Given the description of an element on the screen output the (x, y) to click on. 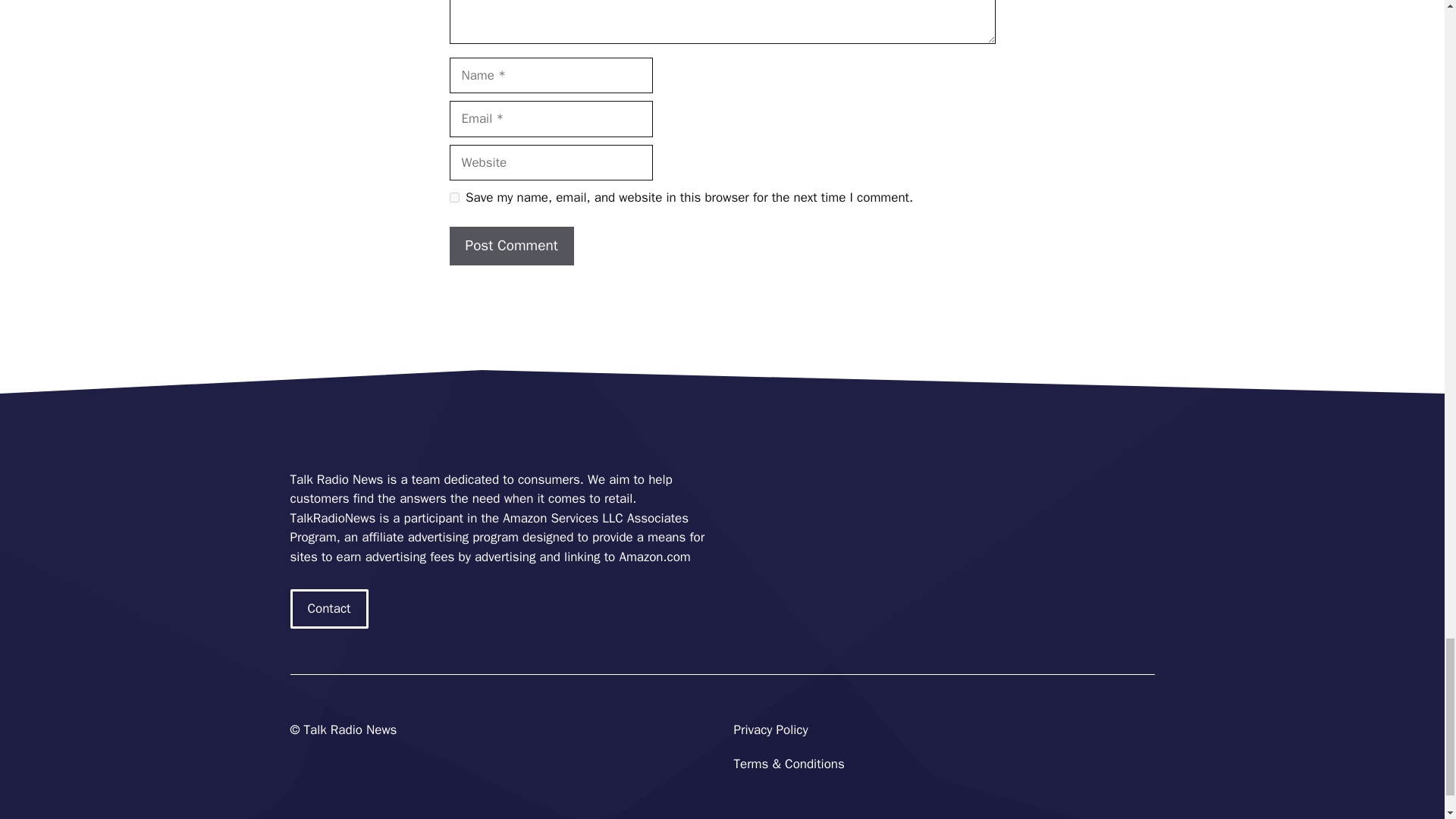
Privacy Policy (770, 729)
Post Comment (510, 245)
Post Comment (510, 245)
Contact (328, 608)
yes (453, 197)
